Given the description of an element on the screen output the (x, y) to click on. 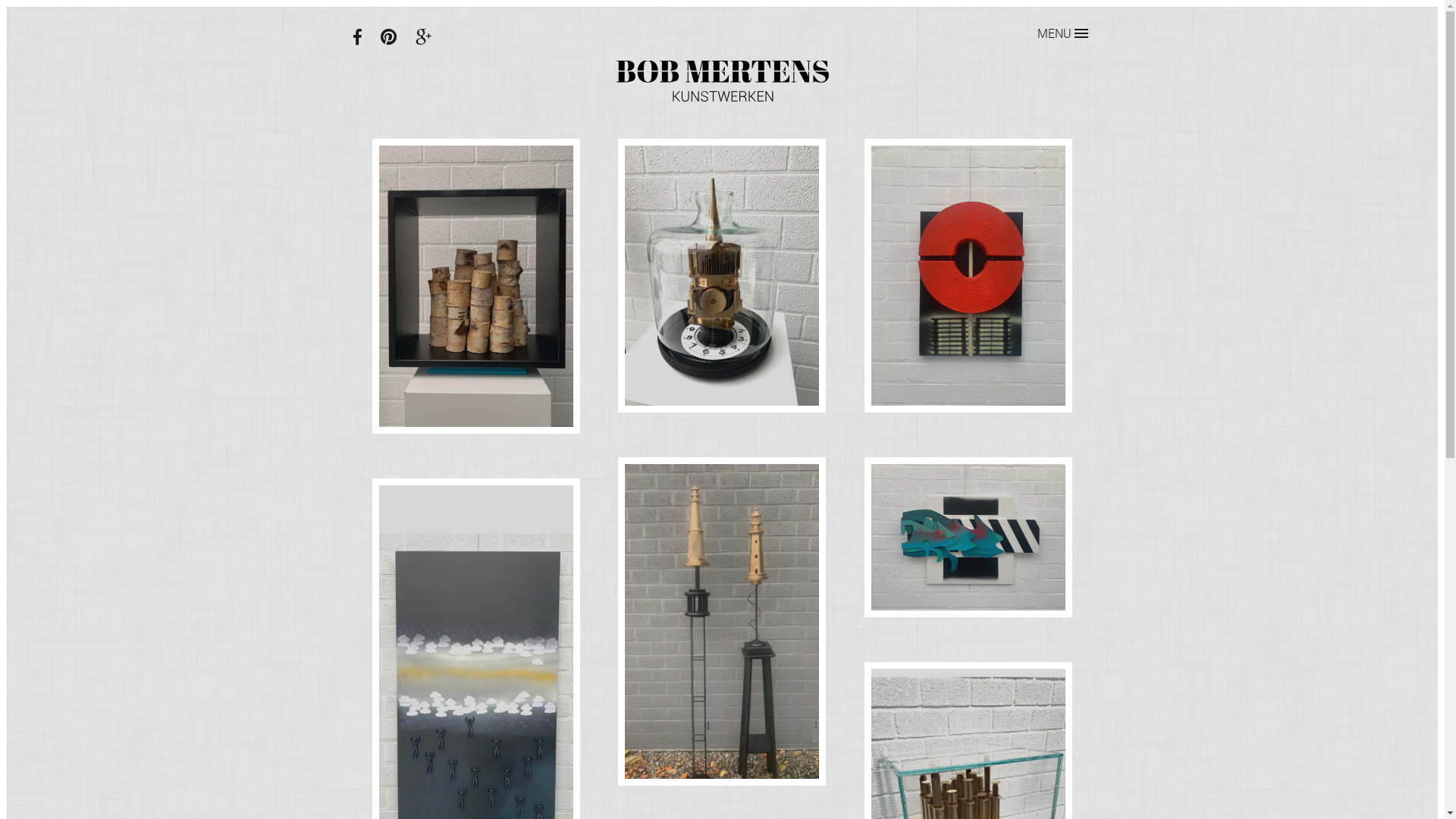
IMG_1365 Element type: hover (967, 274)
Bob Mertens Element type: text (721, 80)
IMG_1393 Element type: hover (721, 274)
IMG_1351 Element type: hover (967, 536)
IMG_1337 Element type: hover (721, 621)
A1952726-D0F5-4D2F-9AE6-54C15A1F663B Element type: hover (476, 285)
